Given the description of an element on the screen output the (x, y) to click on. 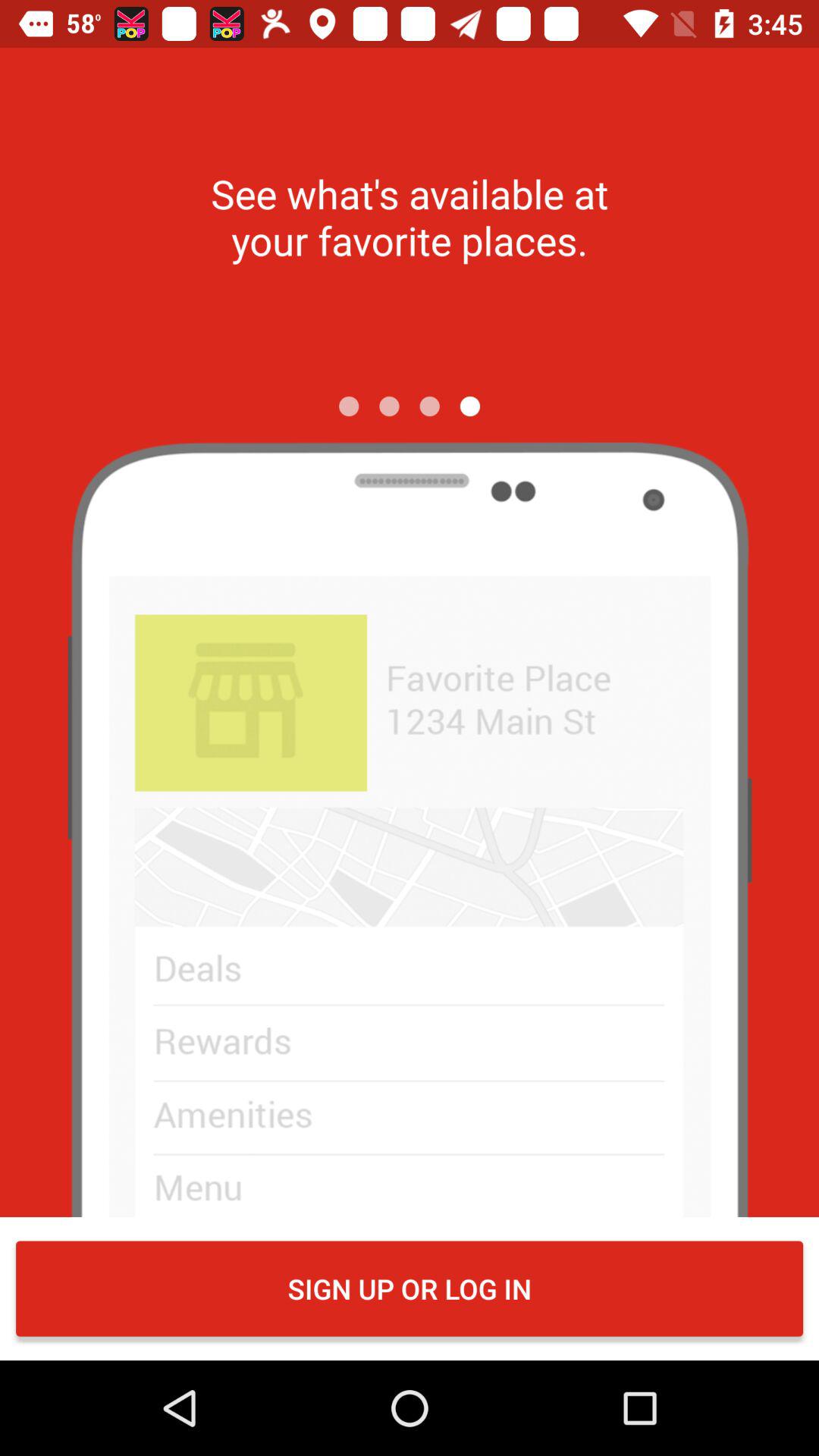
turn off the item below see what s item (389, 406)
